Given the description of an element on the screen output the (x, y) to click on. 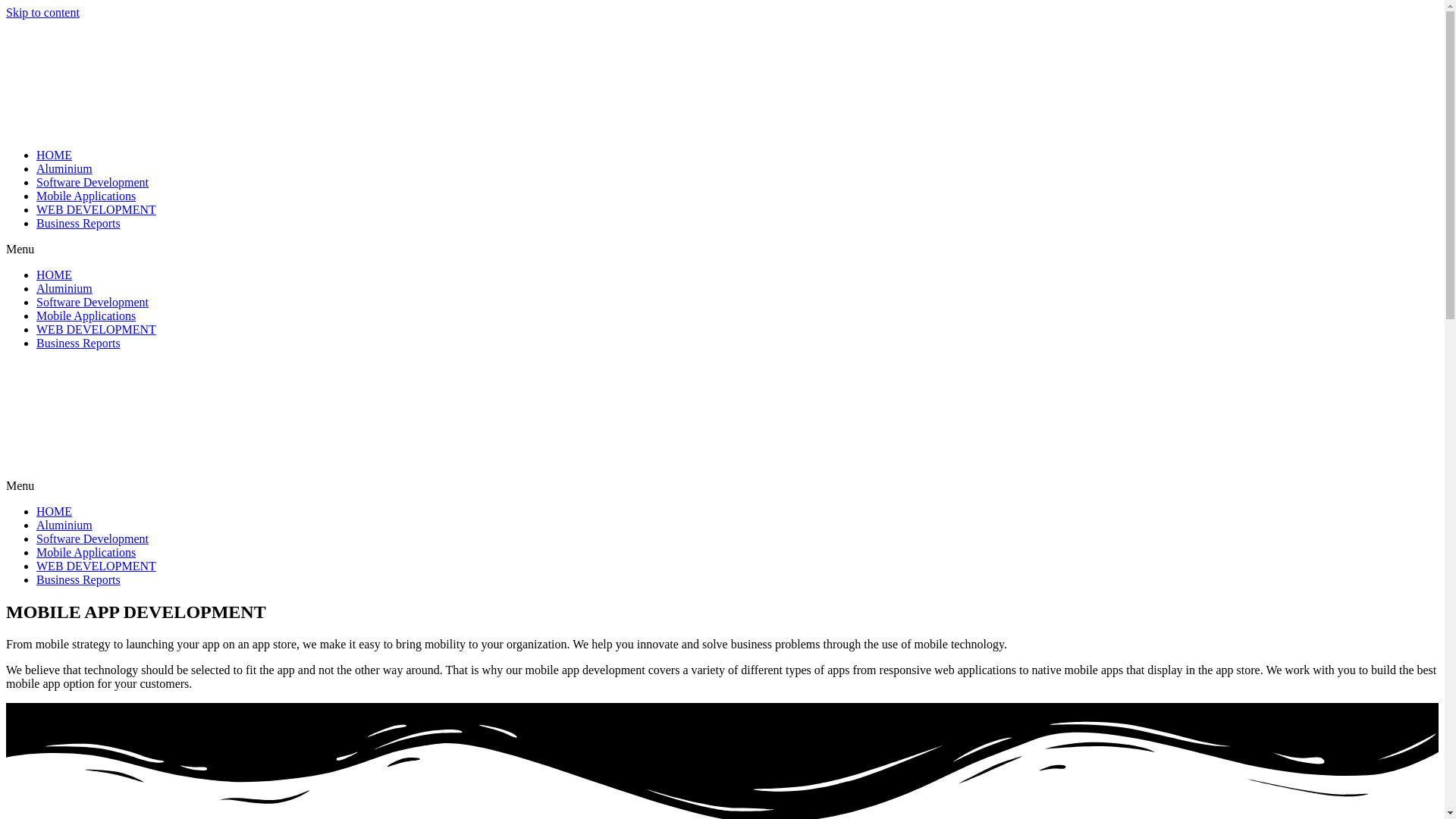
HOME Element type: text (54, 274)
GRN+BLK-350X71-WP-LOGO-THICK ICON Element type: hover (119, 419)
GRN+BLK-350X71-WP-LOGO-THICK ICON Element type: hover (119, 76)
Business Reports Element type: text (78, 222)
Aluminium Element type: text (64, 288)
Software Development Element type: text (92, 301)
Skip to content Element type: text (42, 12)
WEB DEVELOPMENT Element type: text (96, 565)
Software Development Element type: text (92, 181)
Aluminium Element type: text (64, 524)
Business Reports Element type: text (78, 342)
Mobile Applications Element type: text (85, 315)
WEB DEVELOPMENT Element type: text (96, 329)
Aluminium Element type: text (64, 168)
WEB DEVELOPMENT Element type: text (96, 209)
Mobile Applications Element type: text (85, 195)
Software Development Element type: text (92, 538)
HOME Element type: text (54, 511)
Business Reports Element type: text (78, 579)
HOME Element type: text (54, 154)
Mobile Applications Element type: text (85, 552)
